Given the description of an element on the screen output the (x, y) to click on. 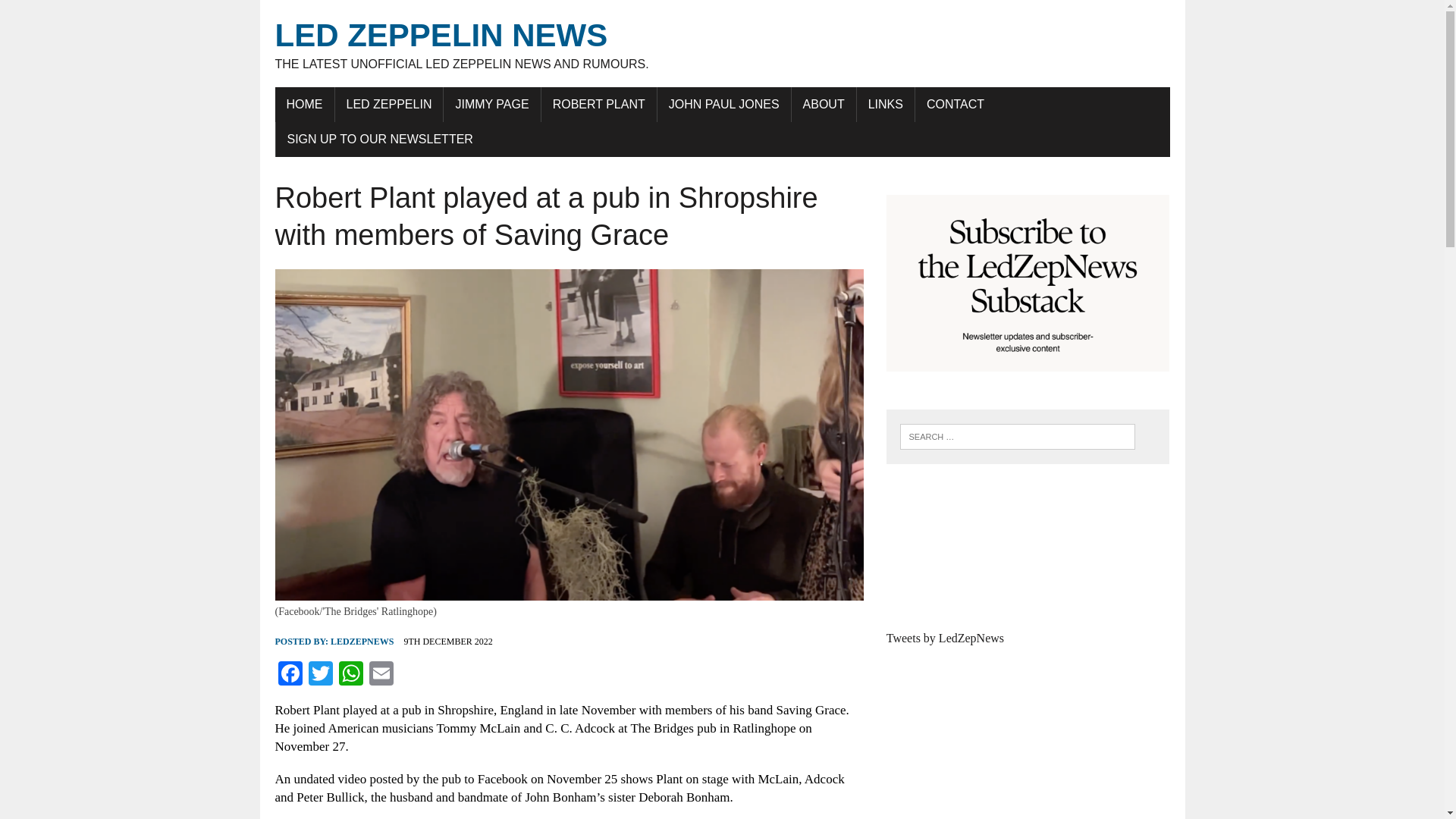
ROBERT PLANT (598, 104)
Led Zeppelin News (722, 43)
Twitter (319, 674)
Email (380, 674)
LEDZEPNEWS (361, 641)
Twitter (319, 674)
SIGN UP TO OUR NEWSLETTER (380, 139)
CONTACT (955, 104)
HOME (304, 104)
WhatsApp (349, 674)
Facebook (289, 674)
JOHN PAUL JONES (724, 104)
LINKS (885, 104)
Facebook (289, 674)
LED ZEPPELIN (389, 104)
